Given the description of an element on the screen output the (x, y) to click on. 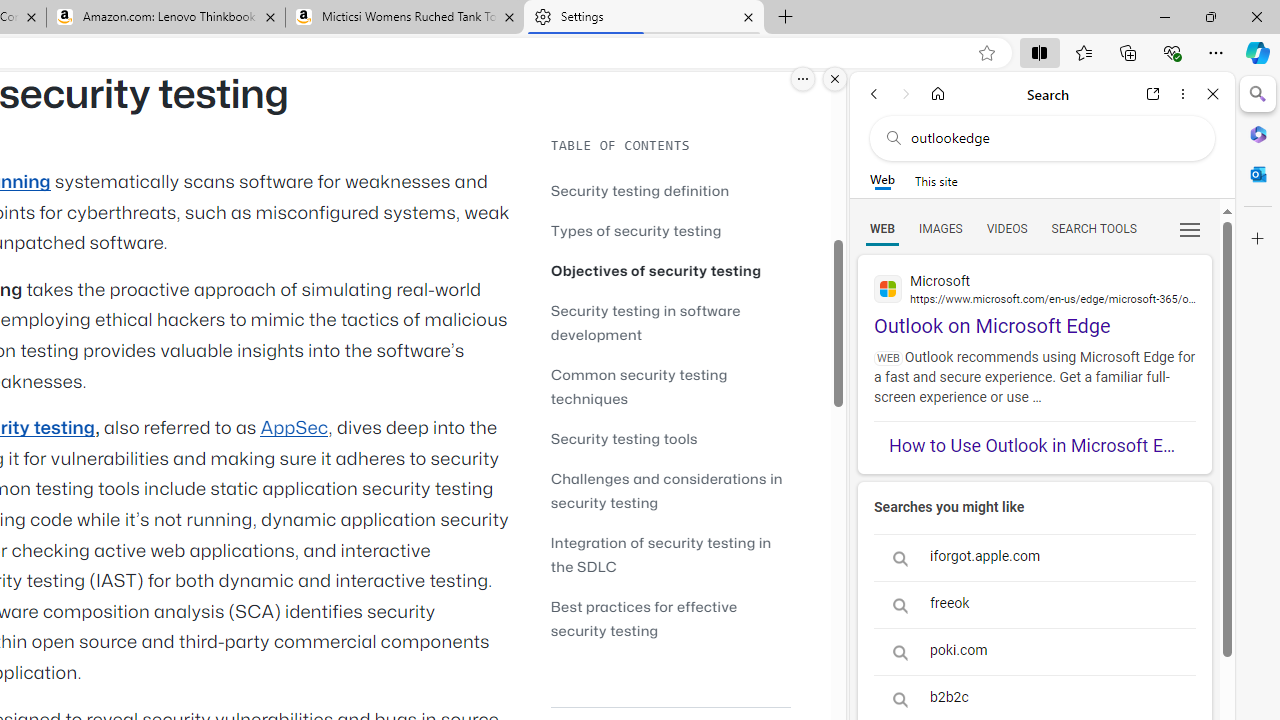
Outlook on Microsoft Edge (1034, 296)
Best practices for effective security testing (644, 618)
